Given the description of an element on the screen output the (x, y) to click on. 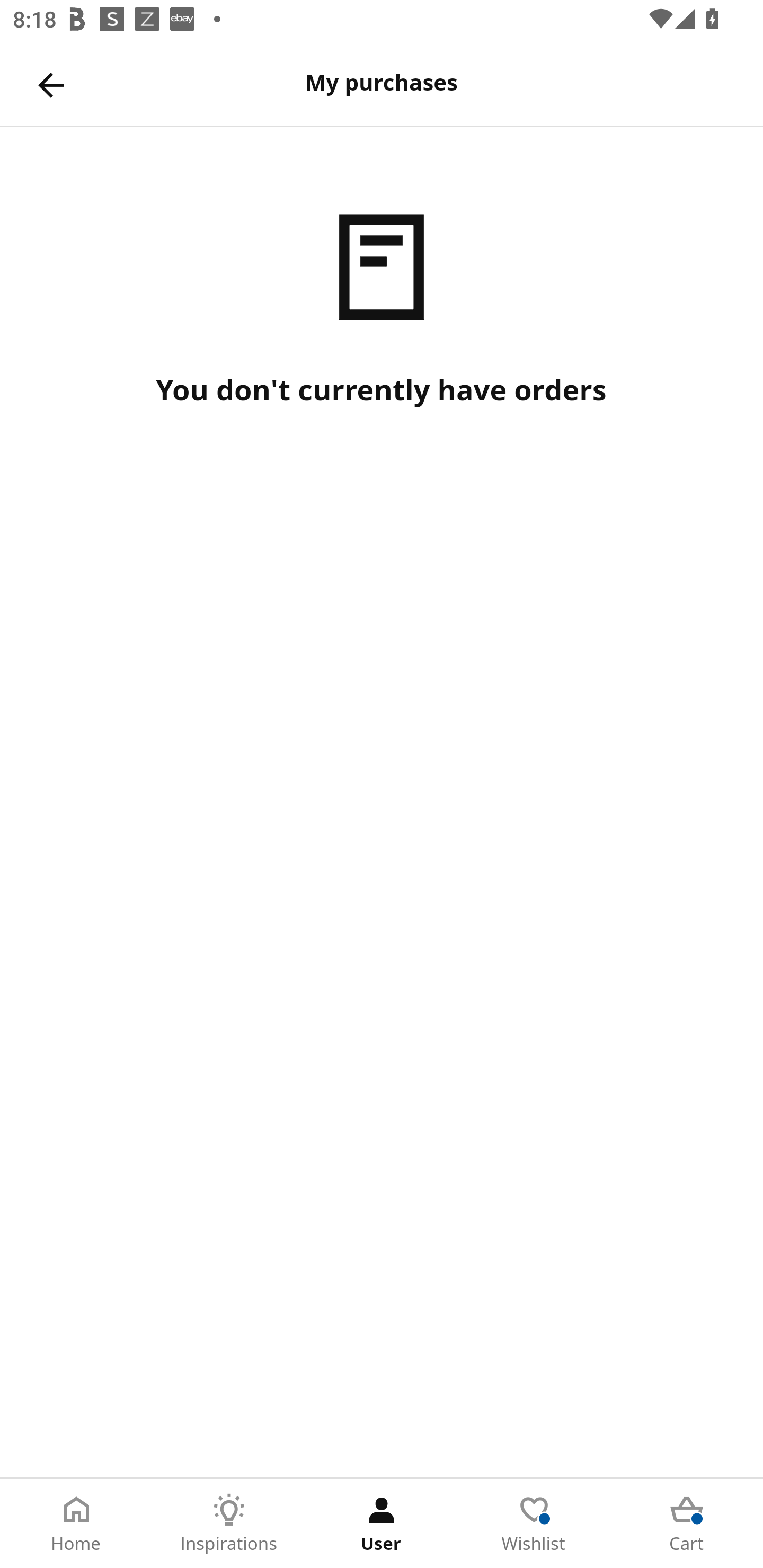
Home
Tab 1 of 5 (76, 1522)
Inspirations
Tab 2 of 5 (228, 1522)
User
Tab 3 of 5 (381, 1522)
Wishlist
Tab 4 of 5 (533, 1522)
Cart
Tab 5 of 5 (686, 1522)
